Given the description of an element on the screen output the (x, y) to click on. 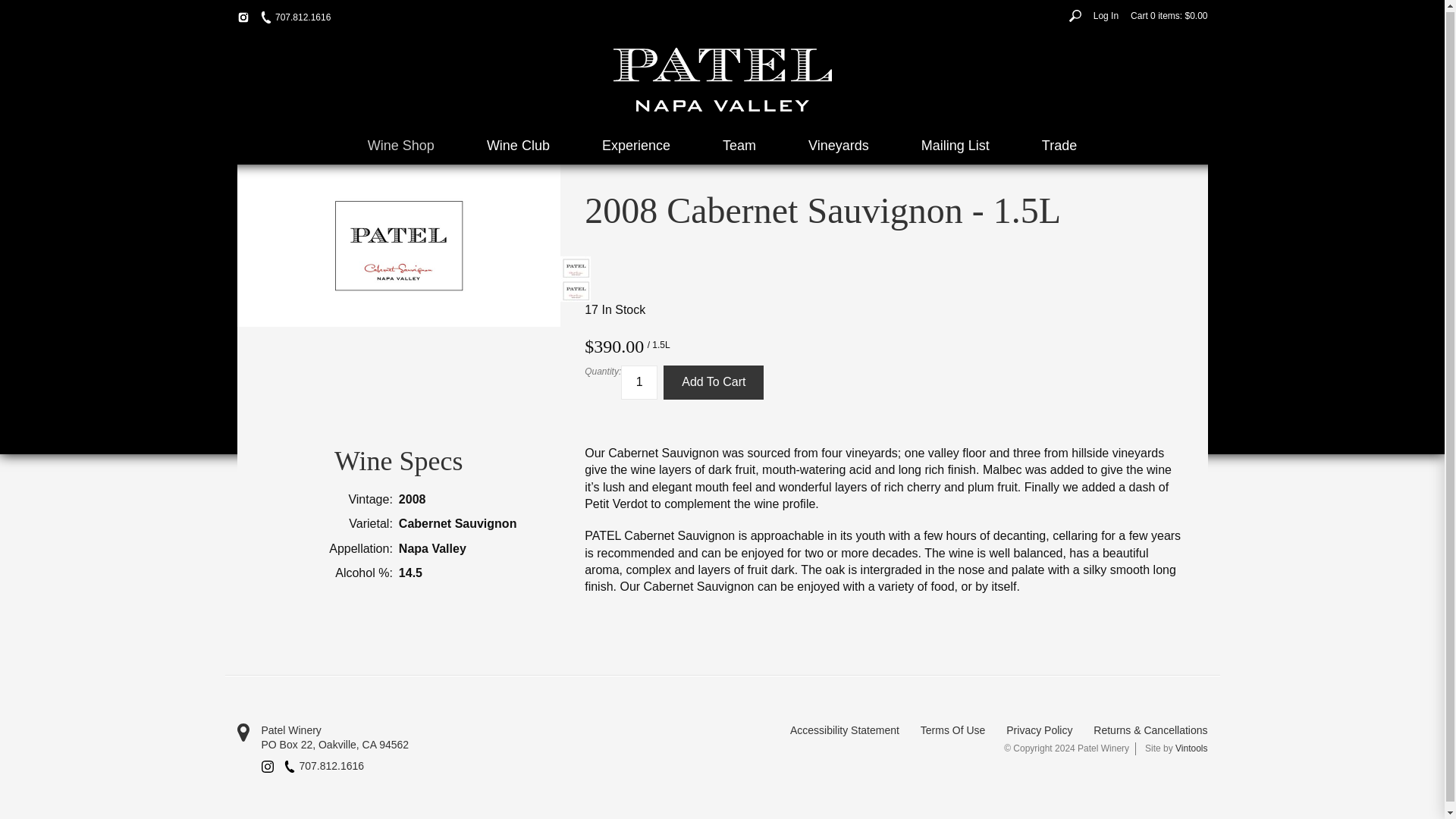
Patel Winery (478, 730)
Wine Shop (400, 145)
Accessibility Statement (844, 730)
Log In (1105, 15)
Trade (1058, 145)
Terms Of Use (952, 730)
707.812.1616 (295, 17)
Add To Cart (712, 382)
Vineyards (838, 145)
1 (639, 382)
